Given the description of an element on the screen output the (x, y) to click on. 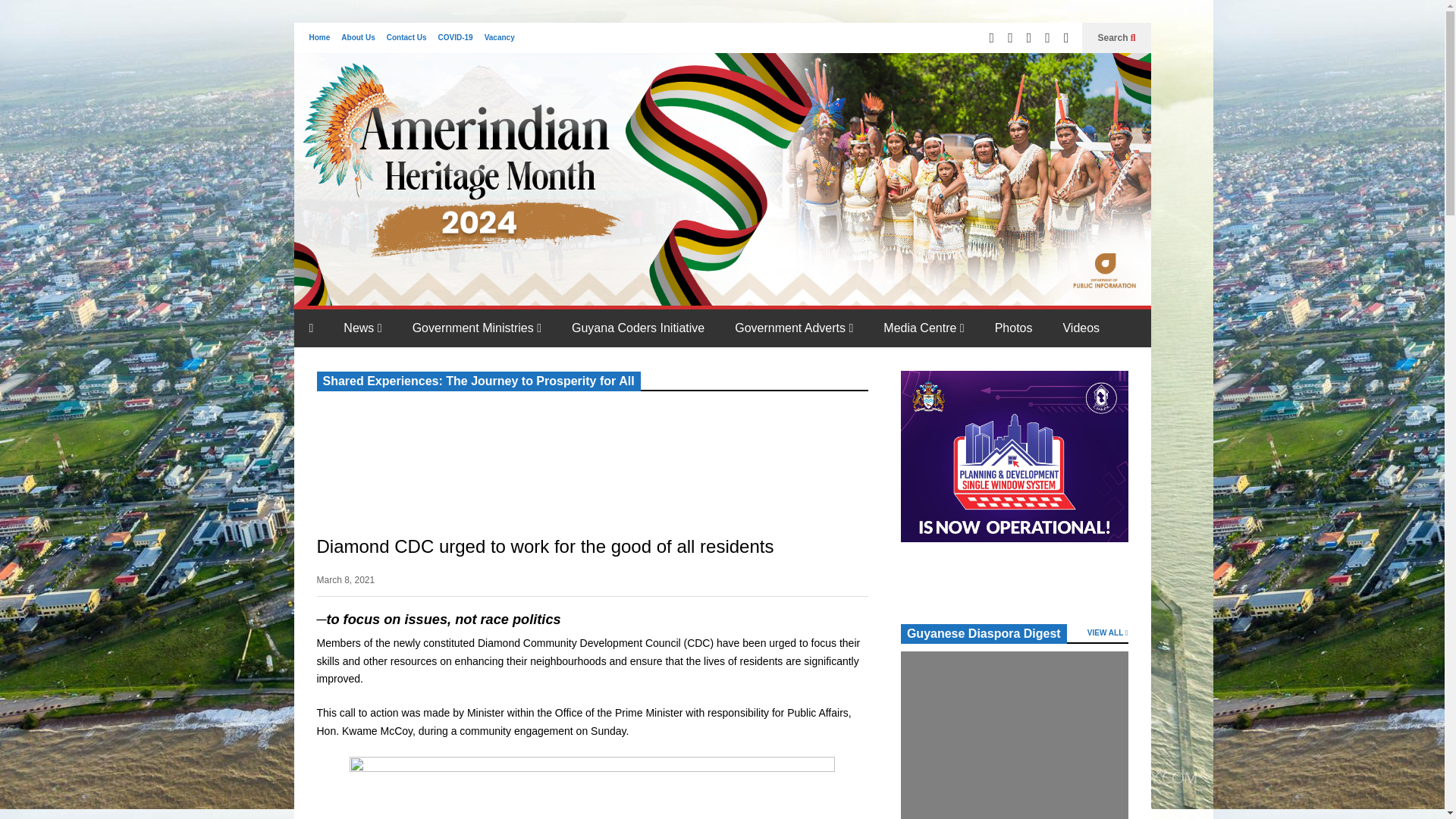
Search (1116, 37)
About Us (357, 37)
COVID-19 (455, 37)
Home (319, 37)
News (362, 328)
YouTube player (430, 455)
Contact Us (406, 37)
Vacancy (499, 37)
